Given the description of an element on the screen output the (x, y) to click on. 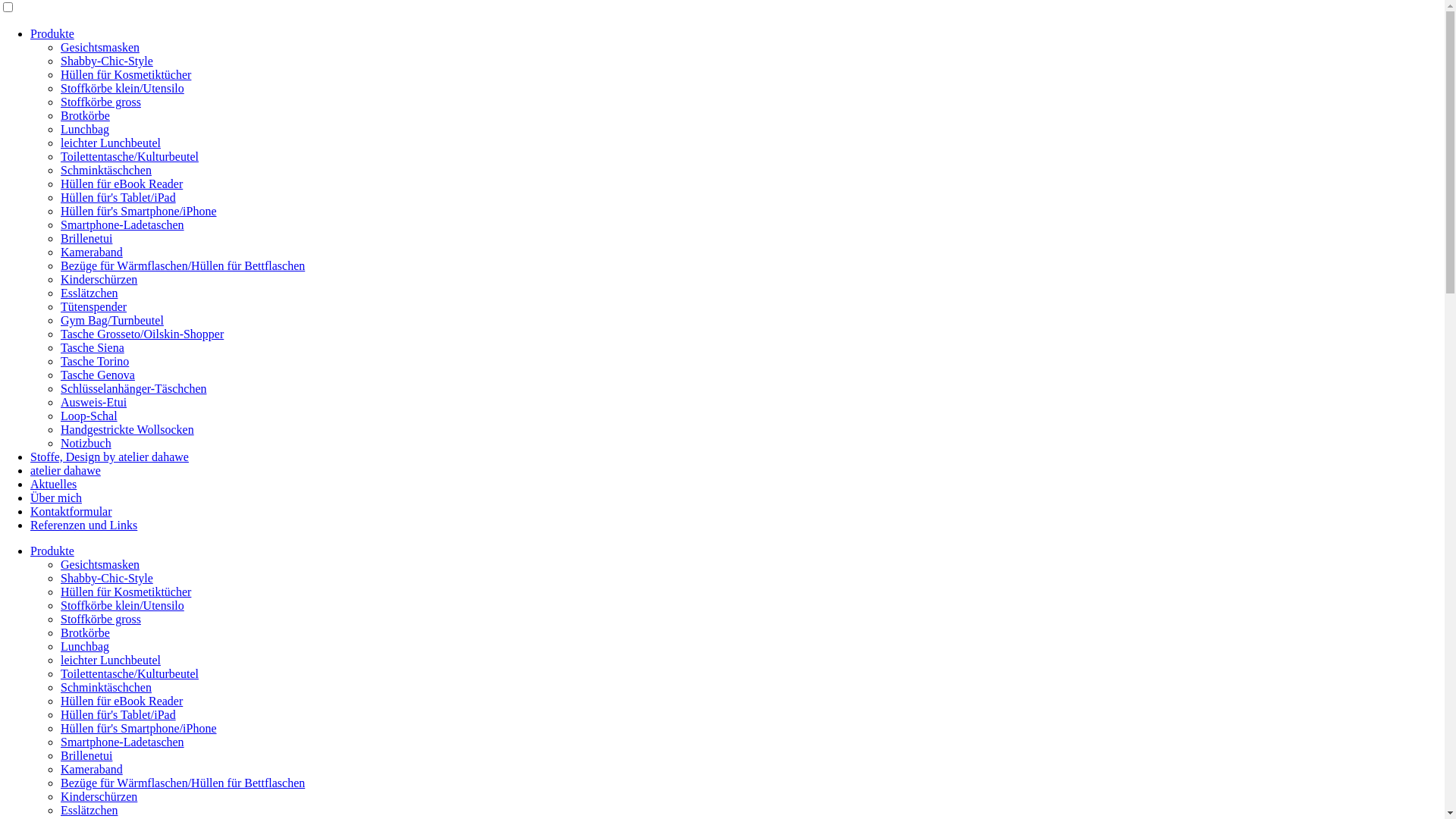
Brillenetui Element type: text (86, 238)
leichter Lunchbeutel Element type: text (110, 659)
Smartphone-Ladetaschen Element type: text (122, 741)
Loop-Schal Element type: text (88, 415)
Gym Bag/Turnbeutel Element type: text (111, 319)
Kameraband Element type: text (91, 768)
Kontaktformular Element type: text (71, 511)
atelier dahawe Element type: text (65, 470)
Kameraband Element type: text (91, 251)
Lunchbag Element type: text (84, 128)
Tasche Siena Element type: text (92, 347)
Lunchbag Element type: text (84, 646)
Gesichtsmasken Element type: text (99, 46)
Shabby-Chic-Style Element type: text (106, 577)
Produkte Element type: text (52, 33)
Stoffe, Design by atelier dahawe Element type: text (109, 456)
Notizbuch Element type: text (85, 442)
Produkte Element type: text (52, 550)
Smartphone-Ladetaschen Element type: text (122, 224)
Tasche Genova Element type: text (97, 374)
Toilettentasche/Kulturbeutel Element type: text (129, 156)
Tasche Grosseto/Oilskin-Shopper Element type: text (141, 333)
Aktuelles Element type: text (53, 483)
Toilettentasche/Kulturbeutel Element type: text (129, 673)
Tasche Torino Element type: text (94, 360)
Shabby-Chic-Style Element type: text (106, 60)
Ausweis-Etui Element type: text (93, 401)
Gesichtsmasken Element type: text (99, 564)
Referenzen und Links Element type: text (83, 524)
leichter Lunchbeutel Element type: text (110, 142)
Handgestrickte Wollsocken Element type: text (127, 429)
Brillenetui Element type: text (86, 755)
